Given the description of an element on the screen output the (x, y) to click on. 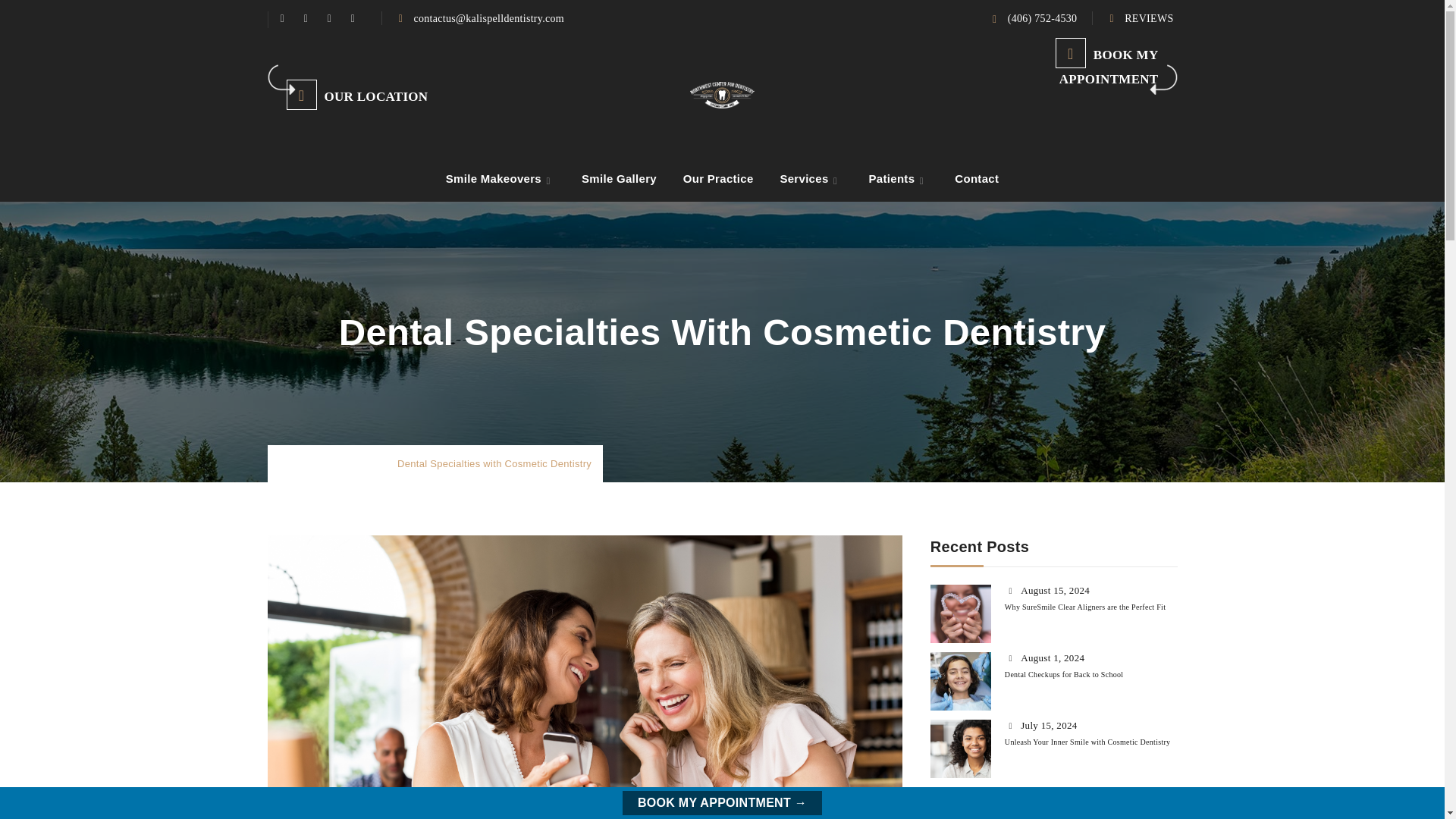
OUR LOCATION (376, 96)
Smile Gallery (618, 178)
Our Practice (718, 178)
Contact (976, 178)
Smile Makeovers (493, 178)
Services (803, 178)
REVIEWS (1148, 18)
BOOK MY APPOINTMENT (1108, 66)
Go to Dentist in Kalispell, MT. (306, 462)
Patients (892, 178)
